Given the description of an element on the screen output the (x, y) to click on. 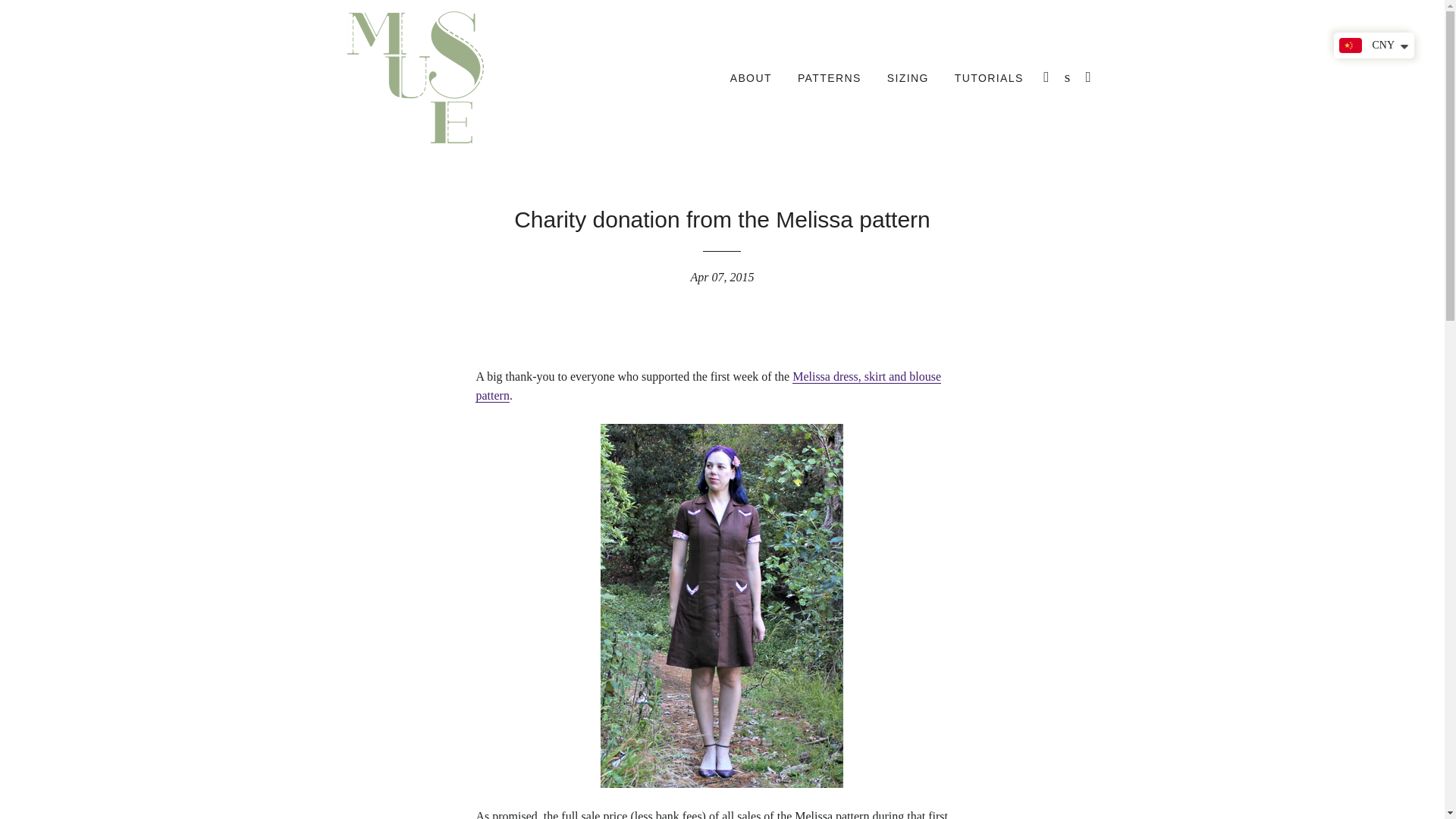
SIZING (908, 78)
PATTERNS (829, 78)
TUTORIALS (989, 78)
ABOUT (751, 78)
Melissa dress, skirt and blouse pattern (708, 386)
